Given the description of an element on the screen output the (x, y) to click on. 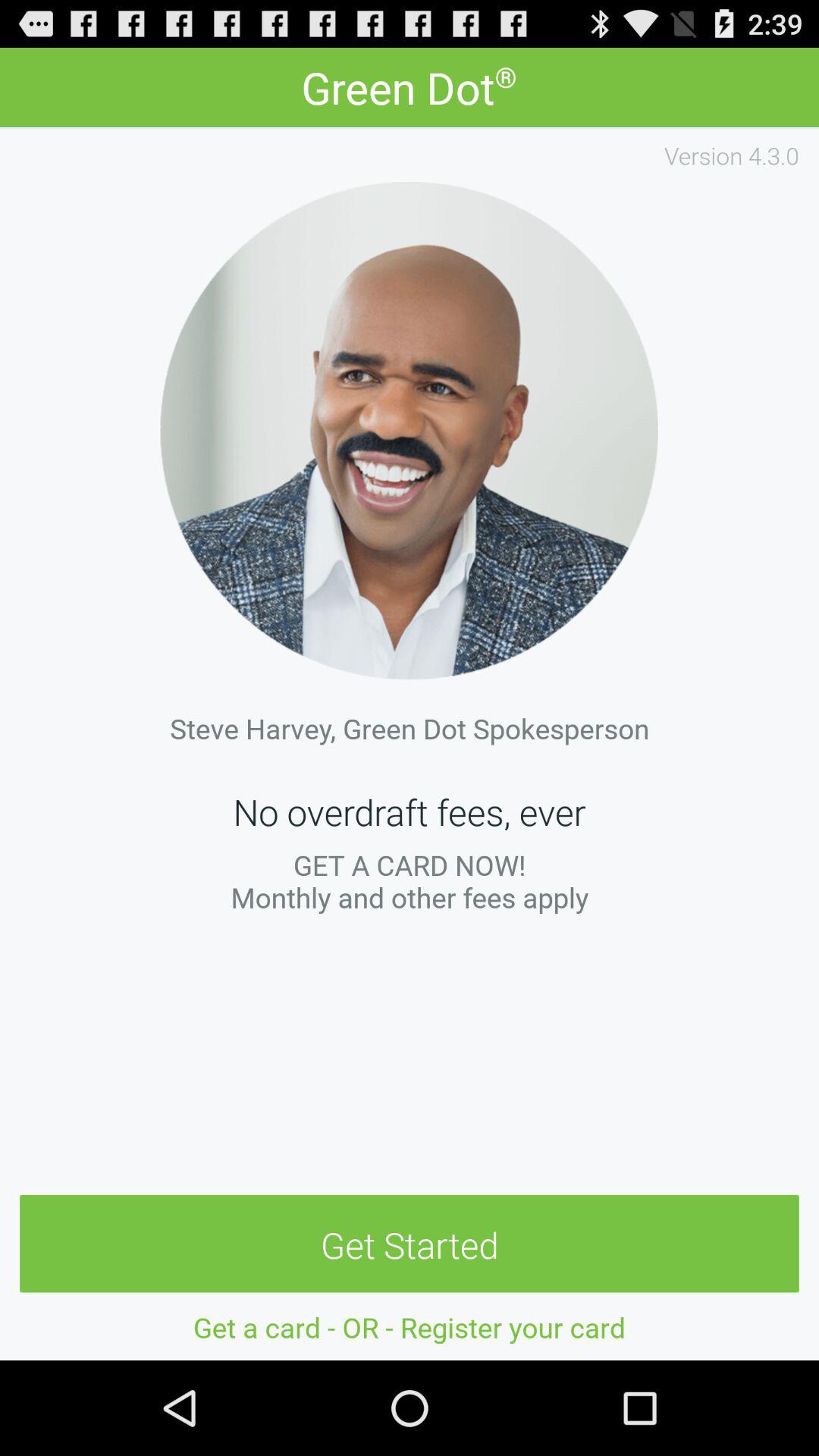
press the get started item (409, 1244)
